Given the description of an element on the screen output the (x, y) to click on. 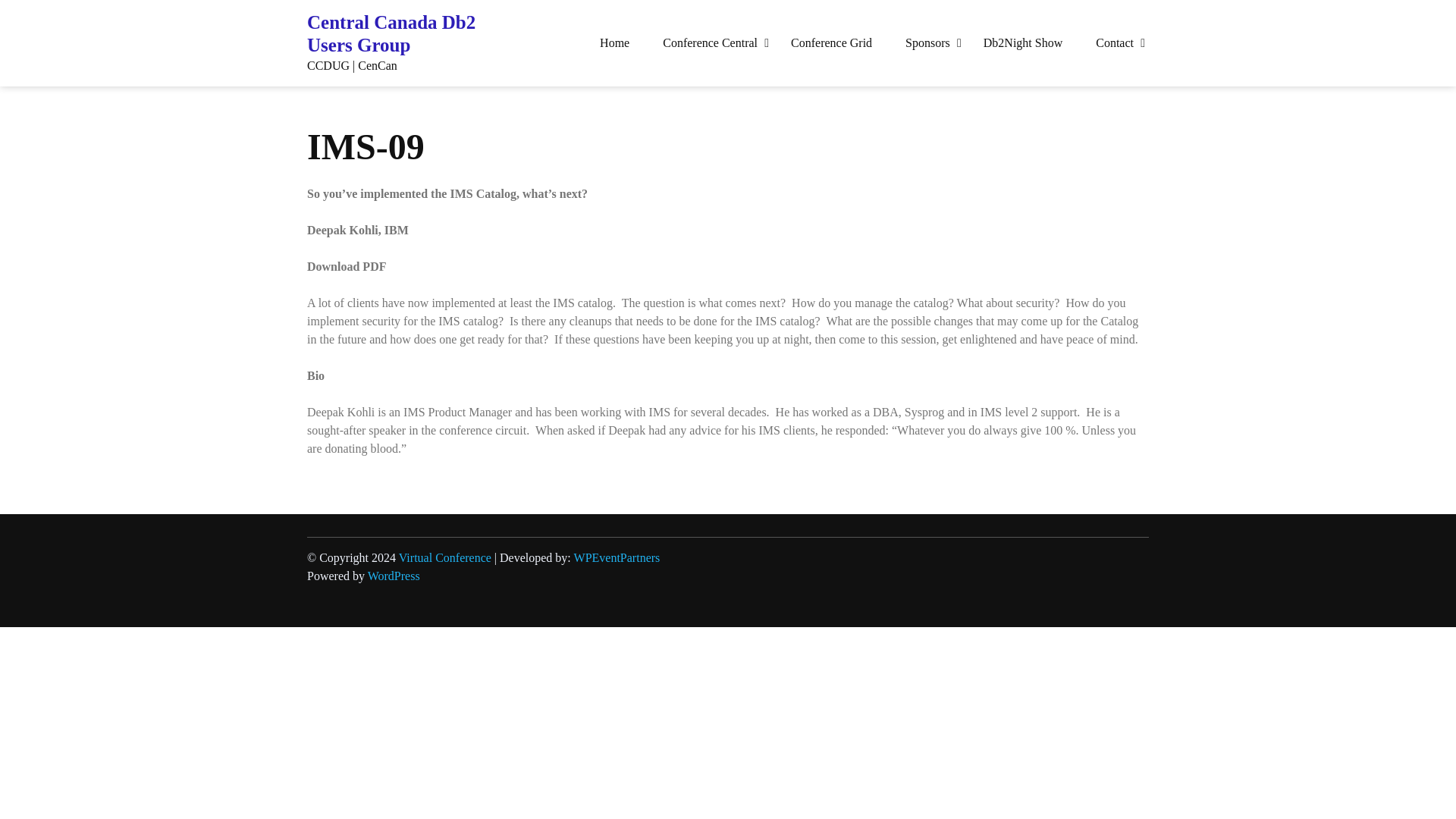
Sponsors (927, 42)
Contact (1114, 42)
WPEventPartners (617, 557)
Virtual Conference (445, 557)
Home (615, 42)
Db2Night Show (1022, 42)
Conference Central (710, 42)
Central Canada Db2 Users Group (403, 33)
WordPress (394, 575)
Conference Grid (831, 42)
